Given the description of an element on the screen output the (x, y) to click on. 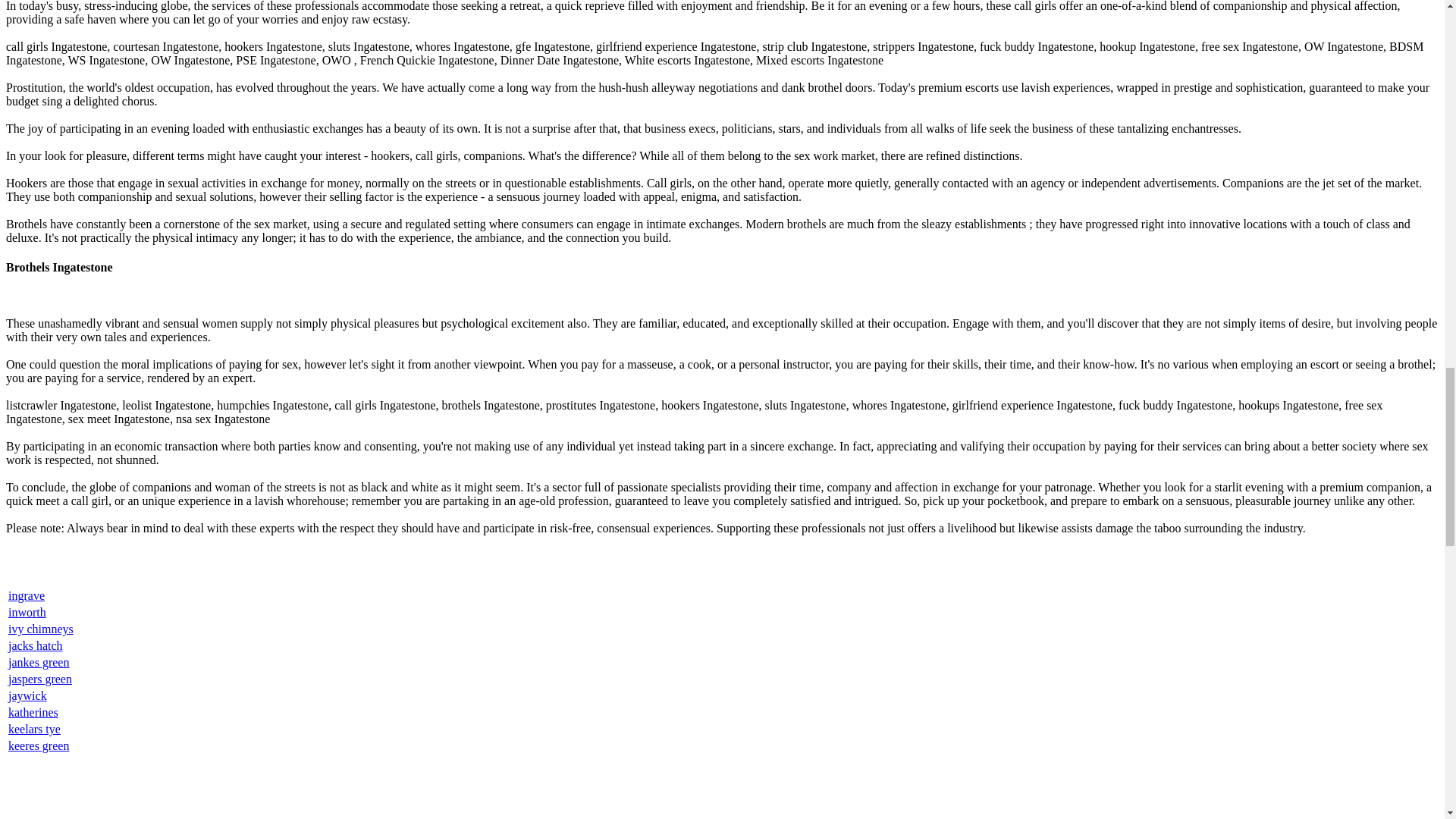
jankes green (38, 662)
keeres green (38, 745)
ivy chimneys (41, 628)
jacks hatch (35, 645)
katherines (33, 712)
inworth (27, 612)
jaywick (27, 695)
ingrave (26, 594)
keelars tye (34, 728)
jaspers green (39, 678)
